Given the description of an element on the screen output the (x, y) to click on. 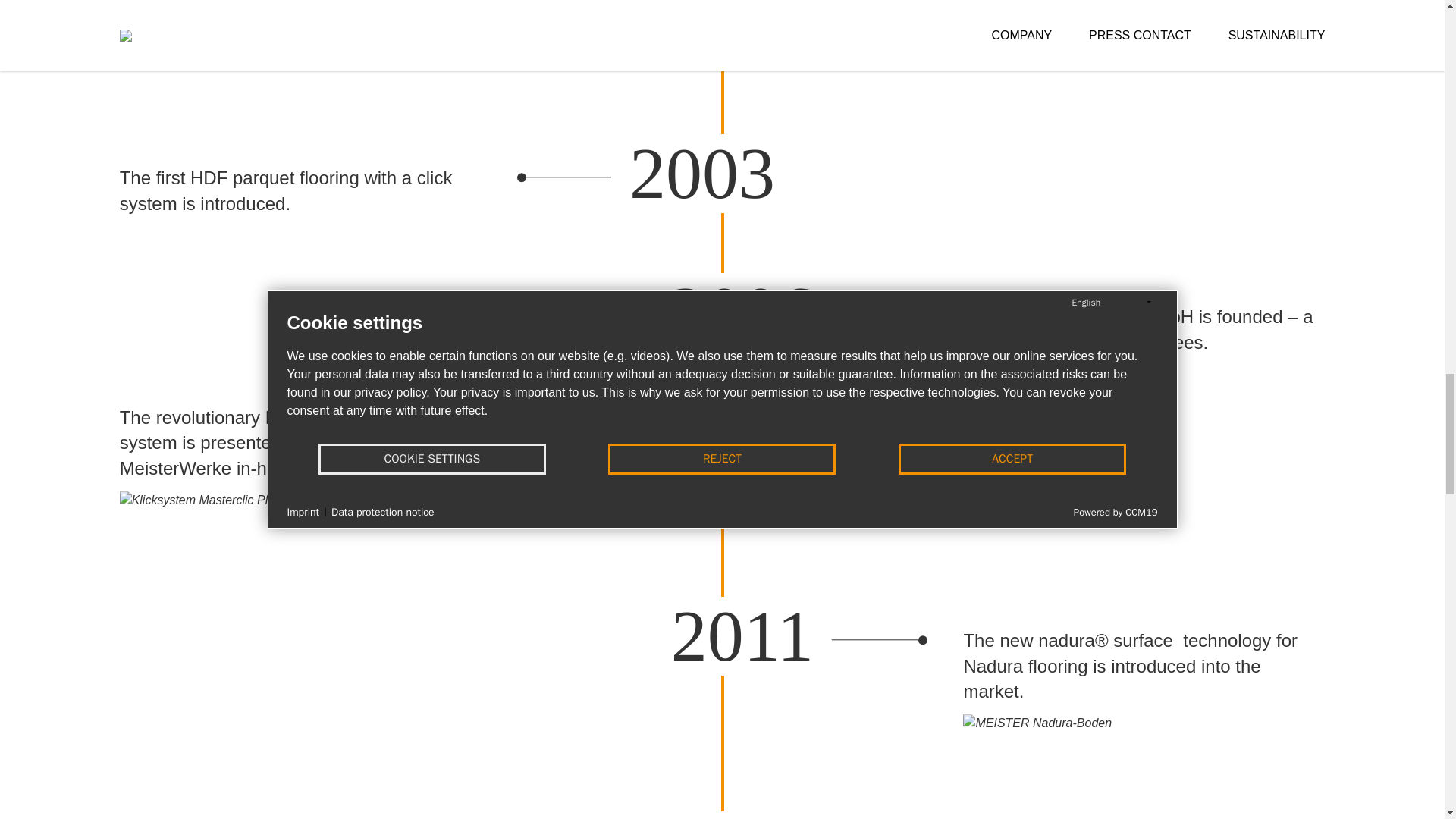
Klicksystem Masterclic Plus (200, 544)
Nadura-Boden als echte Alternative zu Fliesen (1037, 763)
